Given the description of an element on the screen output the (x, y) to click on. 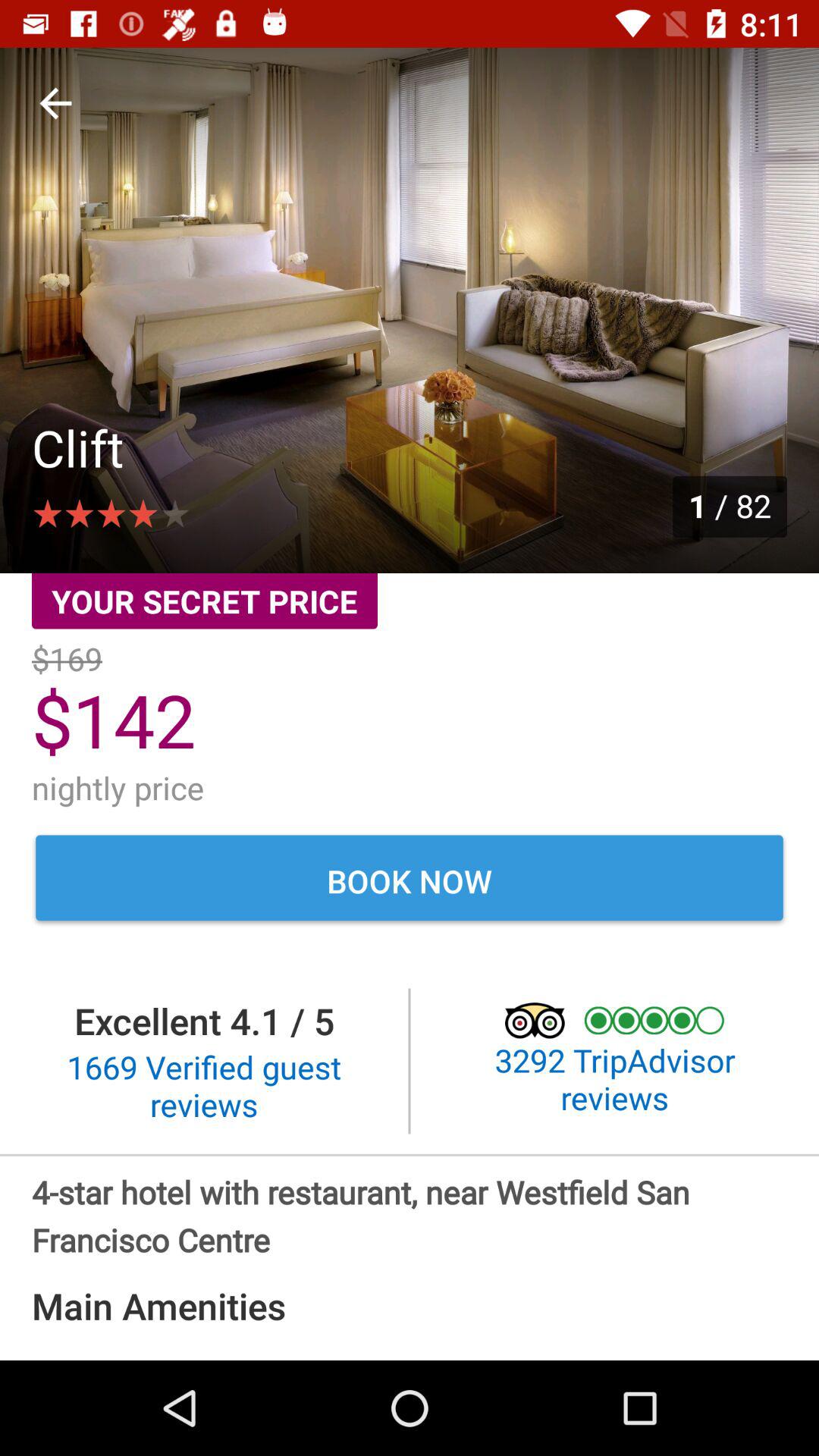
click on the owl icon which is below the book now (544, 1021)
